Given the description of an element on the screen output the (x, y) to click on. 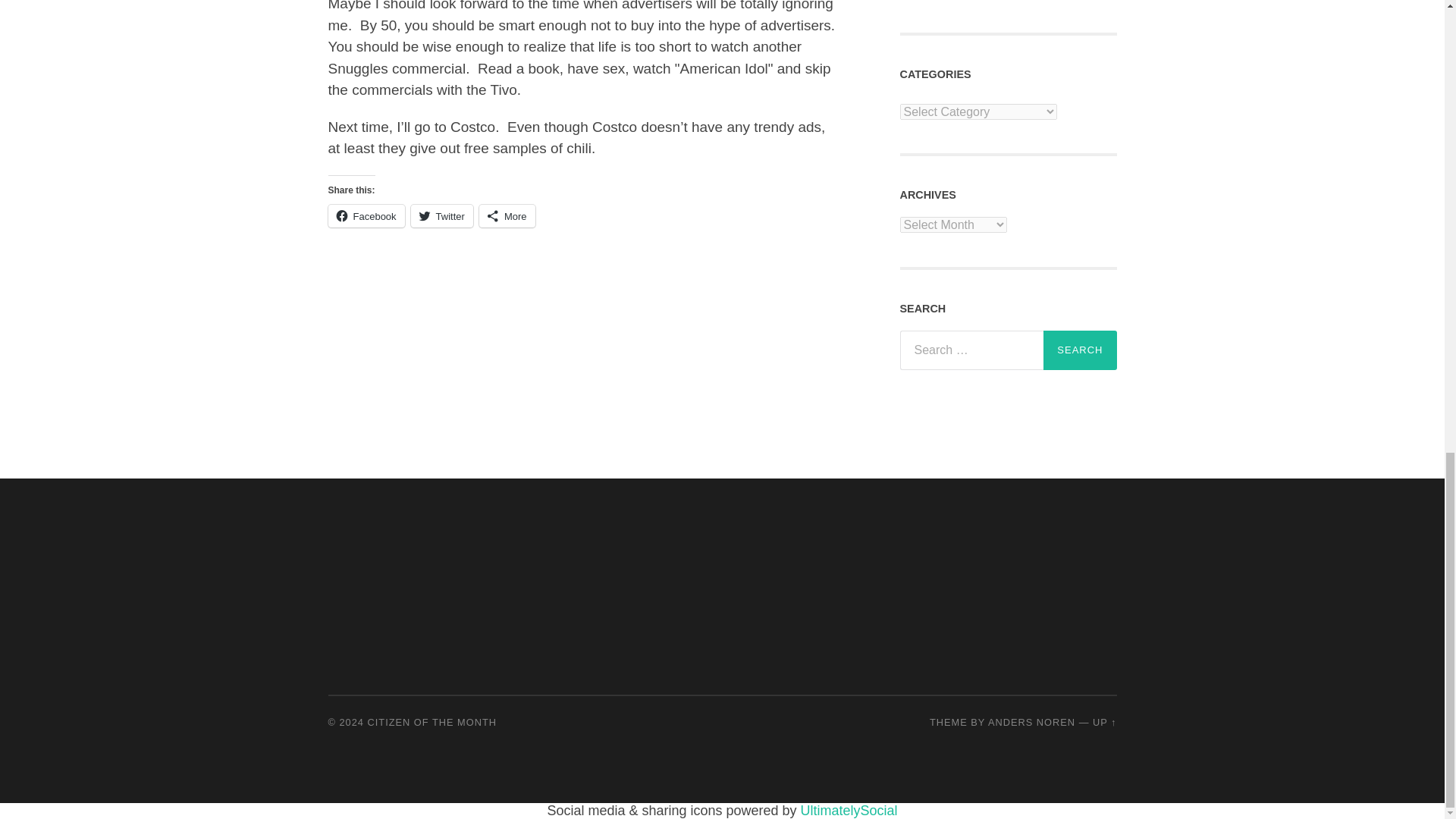
Click to share on Twitter (441, 215)
Click to share on Facebook (365, 215)
Search (1079, 350)
More (507, 215)
Search (1079, 350)
Facebook (365, 215)
Search (1079, 350)
Twitter (441, 215)
